Given the description of an element on the screen output the (x, y) to click on. 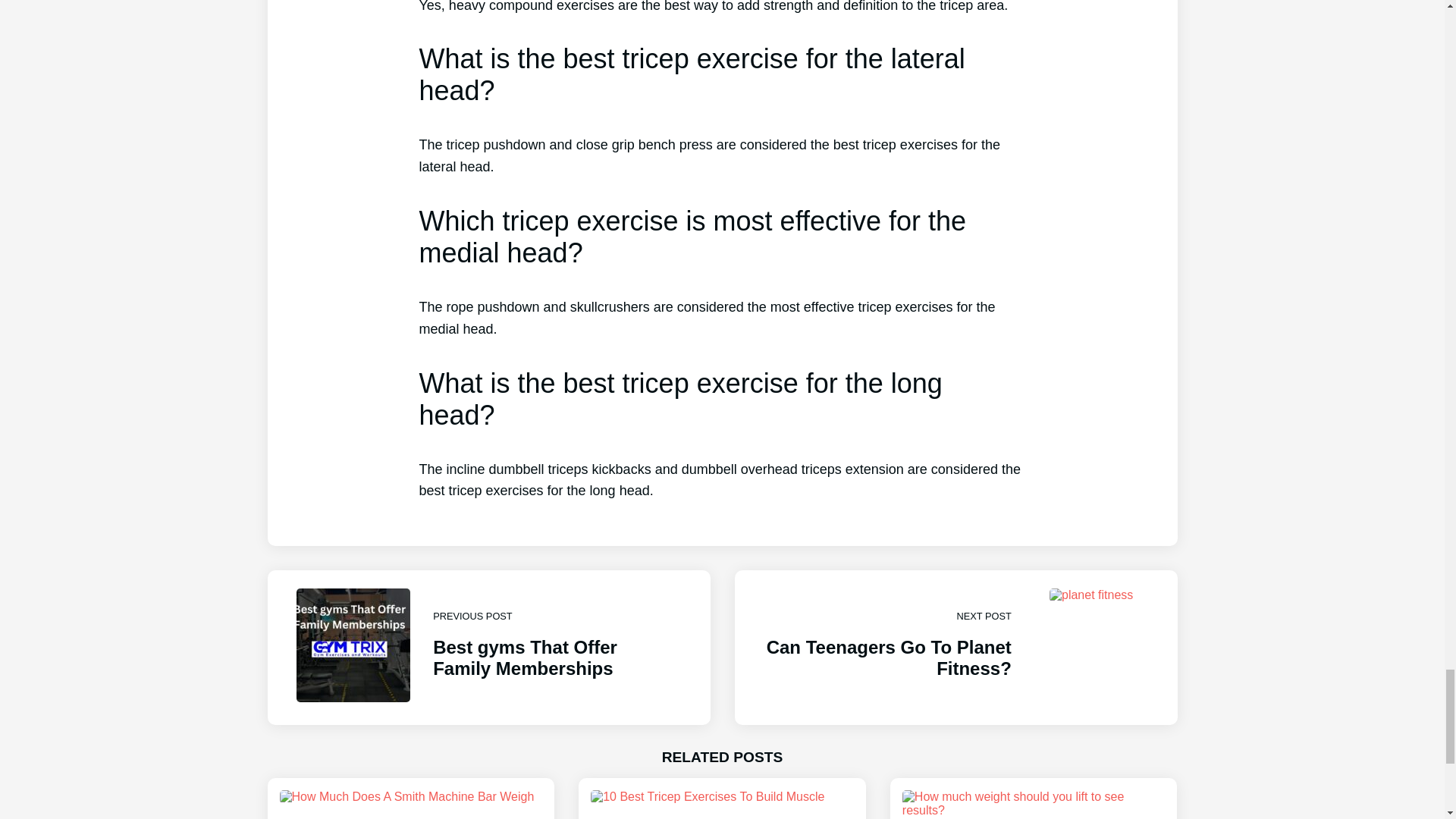
How much weight should you lift to see results? (488, 647)
